Given the description of an element on the screen output the (x, y) to click on. 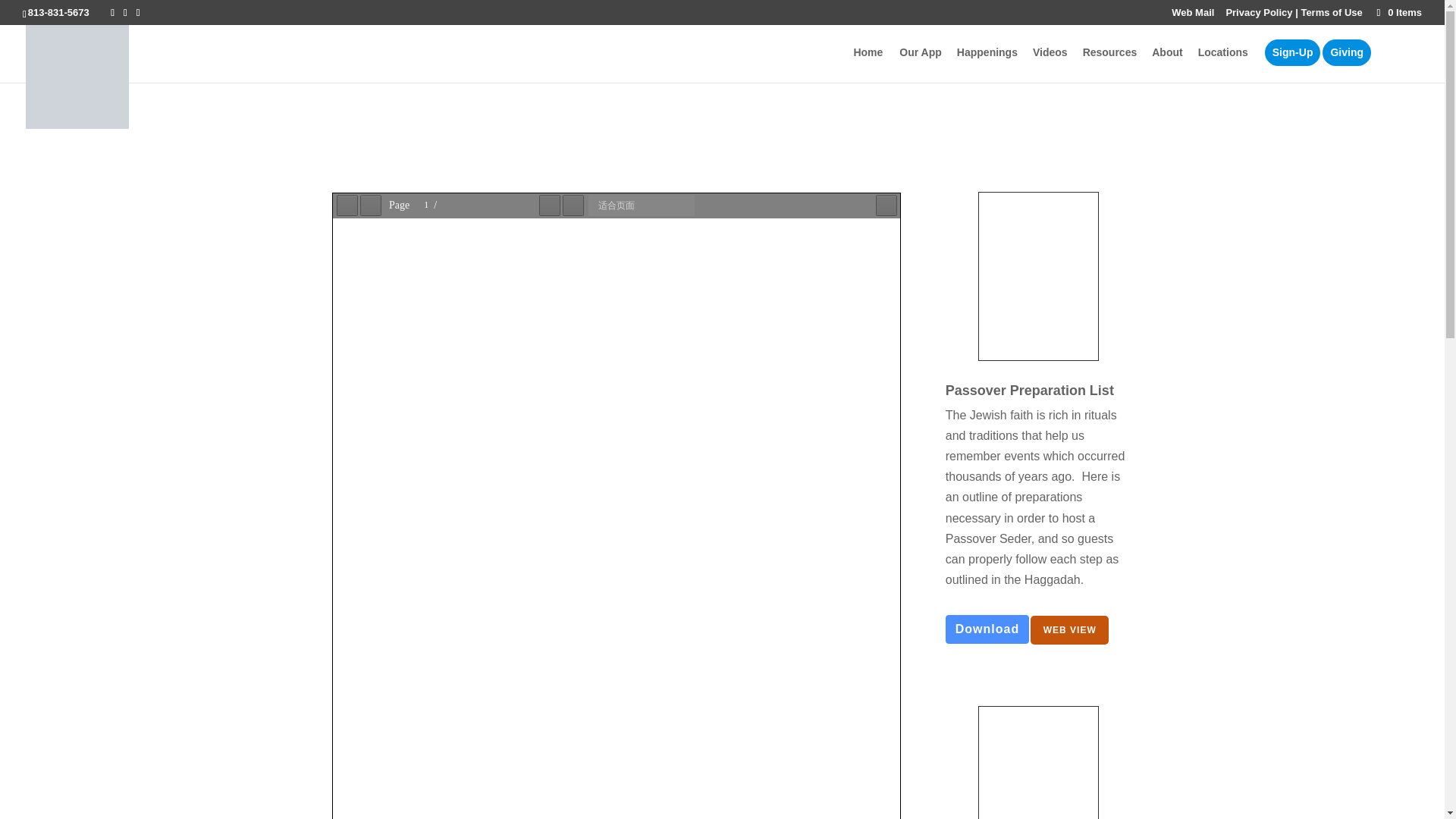
Our App (927, 64)
Videos (1057, 64)
Web Mail (1193, 16)
0 Items (1398, 12)
Resources (1118, 64)
Happenings (994, 64)
